Given the description of an element on the screen output the (x, y) to click on. 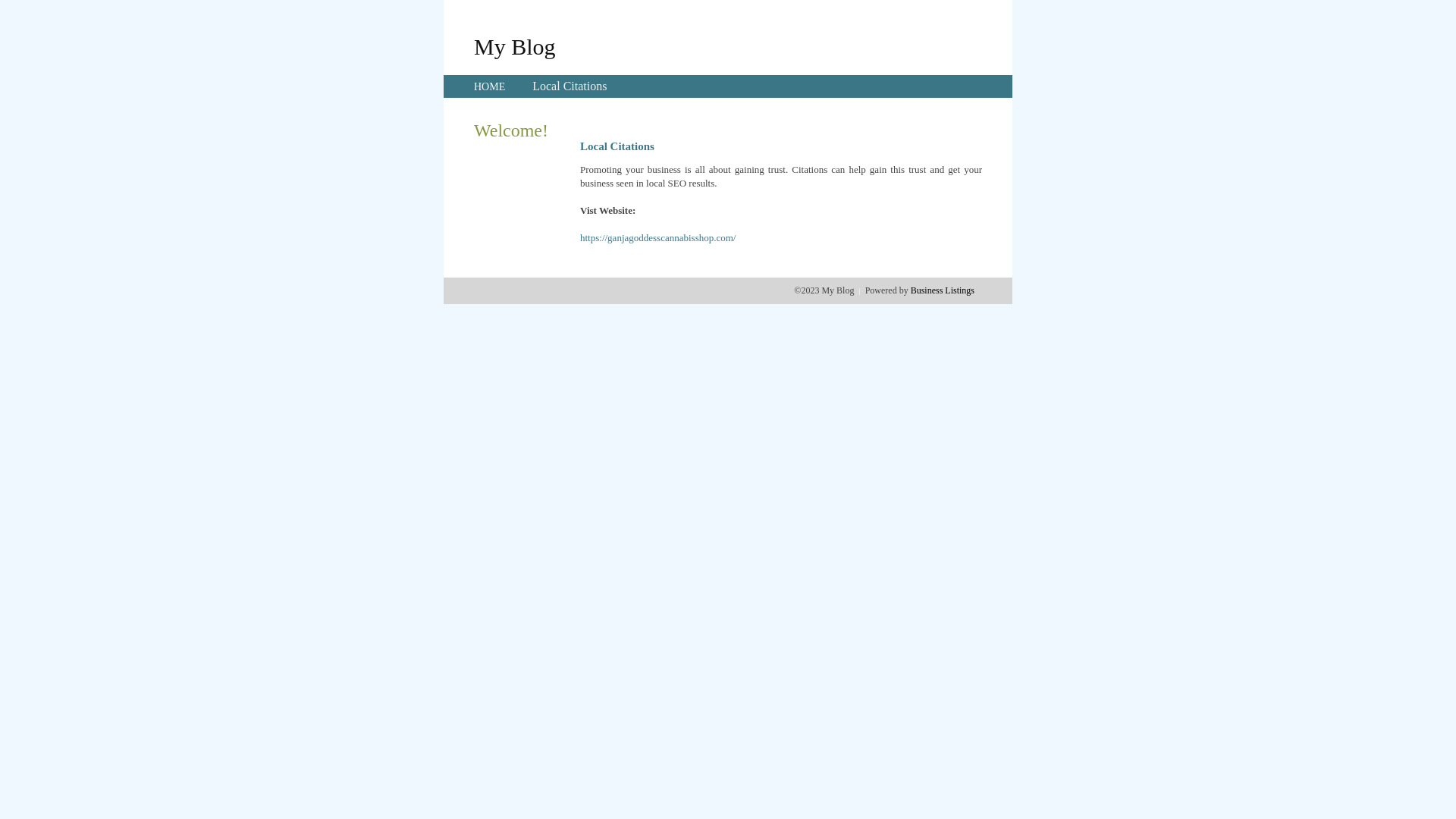
My Blog Element type: text (514, 46)
https://ganjagoddesscannabisshop.com/ Element type: text (657, 237)
Business Listings Element type: text (942, 290)
HOME Element type: text (489, 86)
Local Citations Element type: text (569, 85)
